Given the description of an element on the screen output the (x, y) to click on. 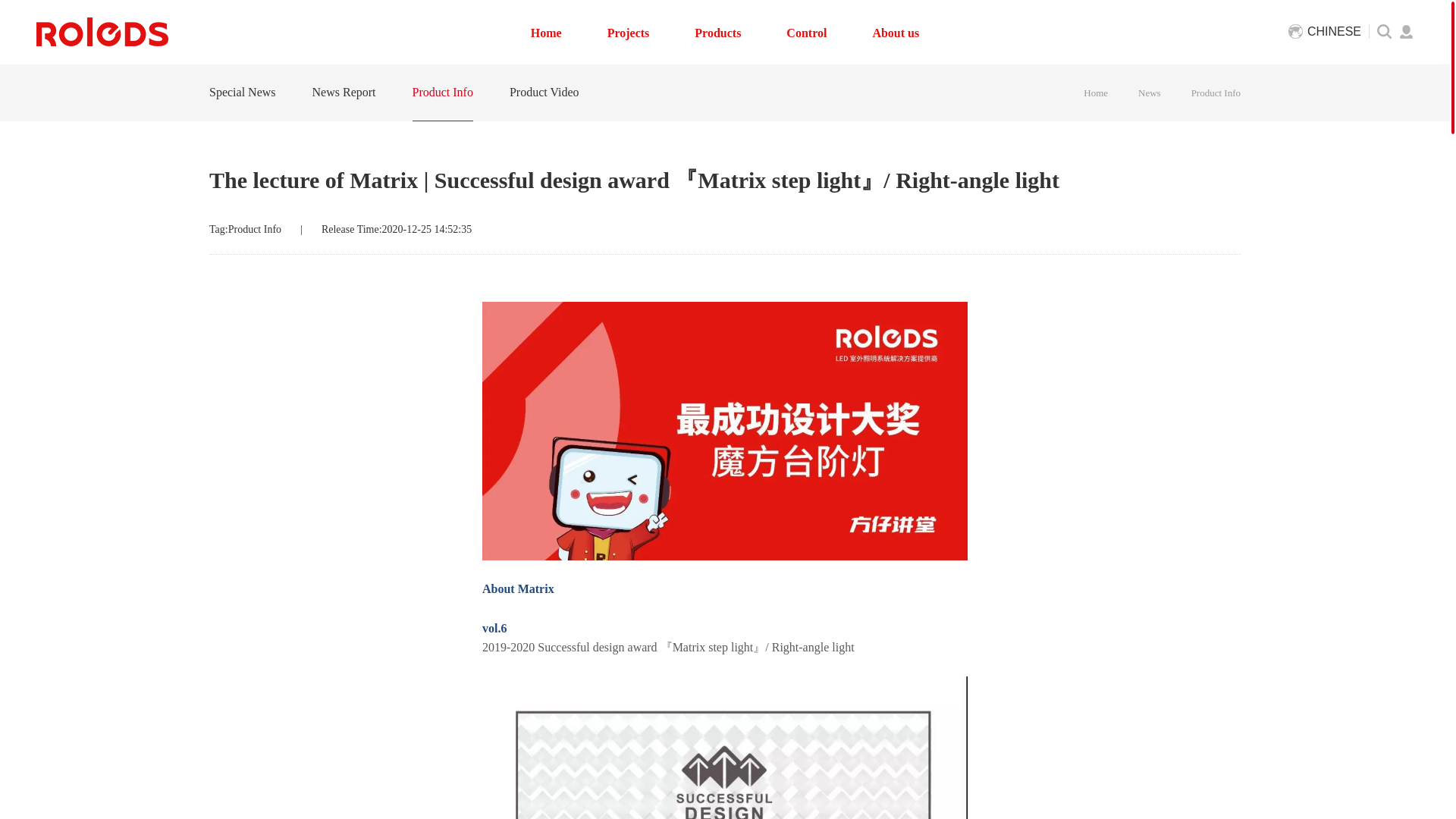
Home (1102, 91)
News Report (344, 92)
News (1157, 91)
Product Info (1215, 91)
Product Video (544, 92)
Special News (242, 92)
Product Info (442, 92)
